Given the description of an element on the screen output the (x, y) to click on. 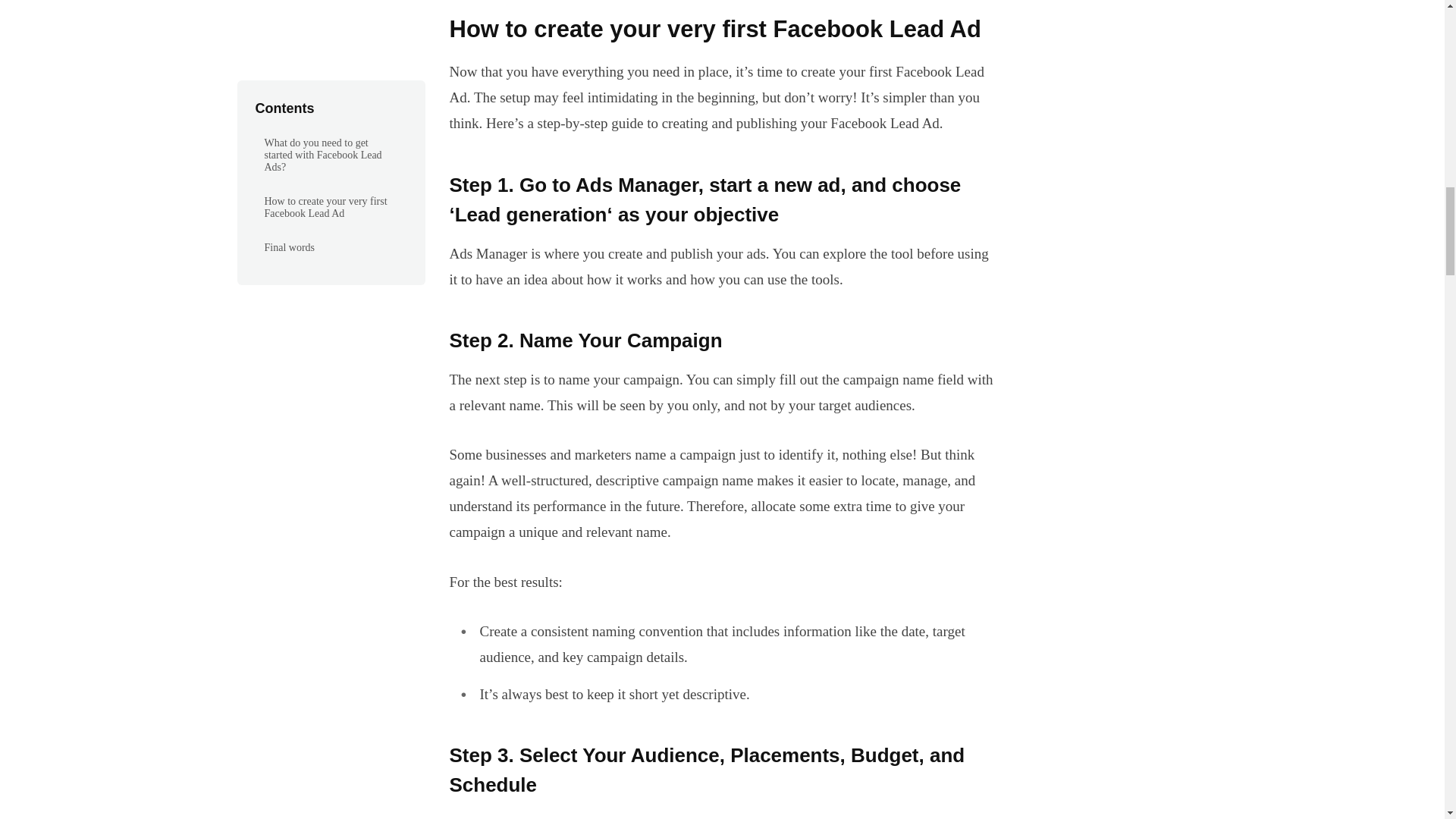
How to create your very first Facebook Lead Ad (721, 29)
